Given the description of an element on the screen output the (x, y) to click on. 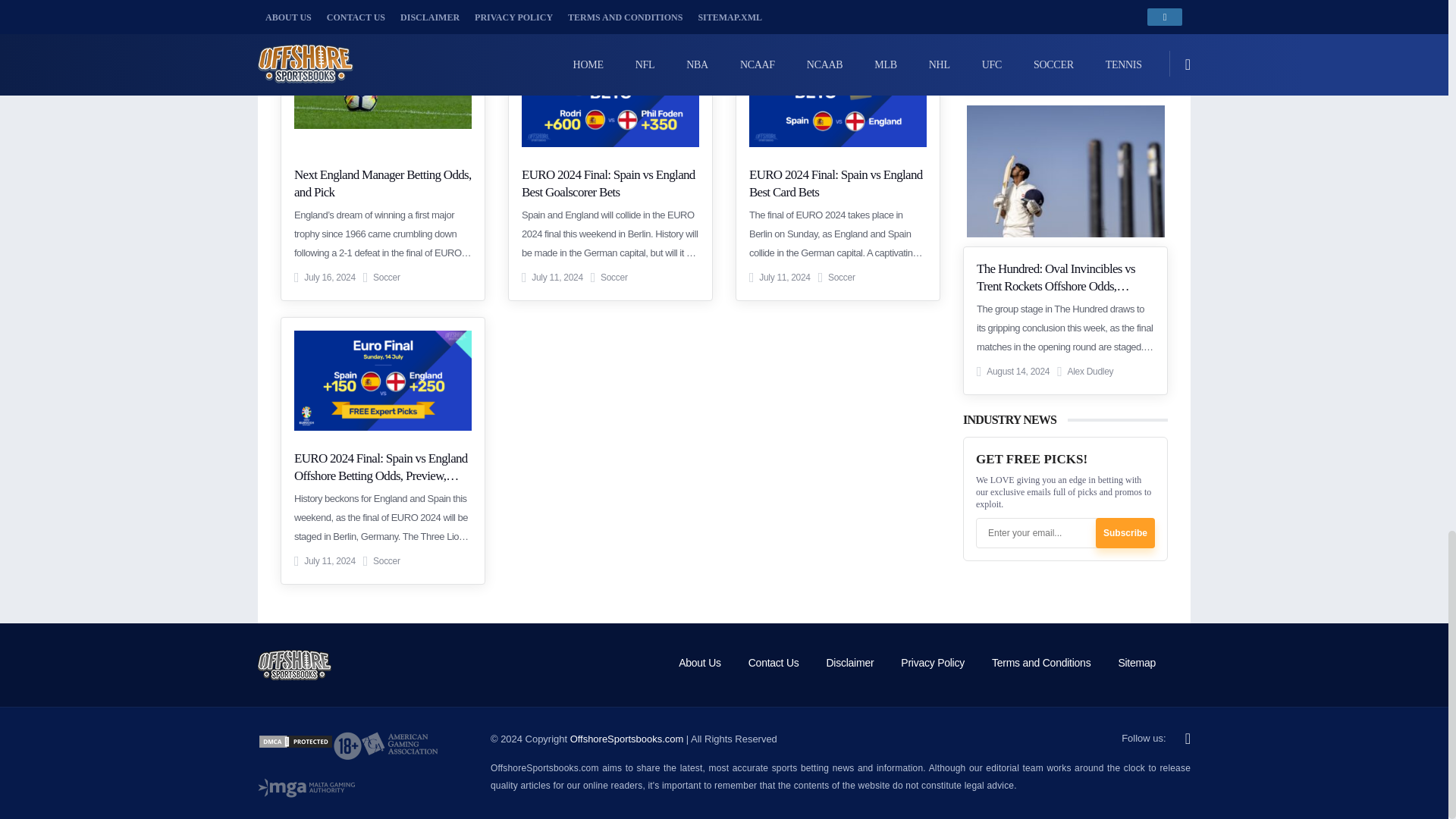
Subscribe (1125, 531)
Soccer (386, 276)
Next England Manager Betting Odds, and Pick (382, 183)
